Given the description of an element on the screen output the (x, y) to click on. 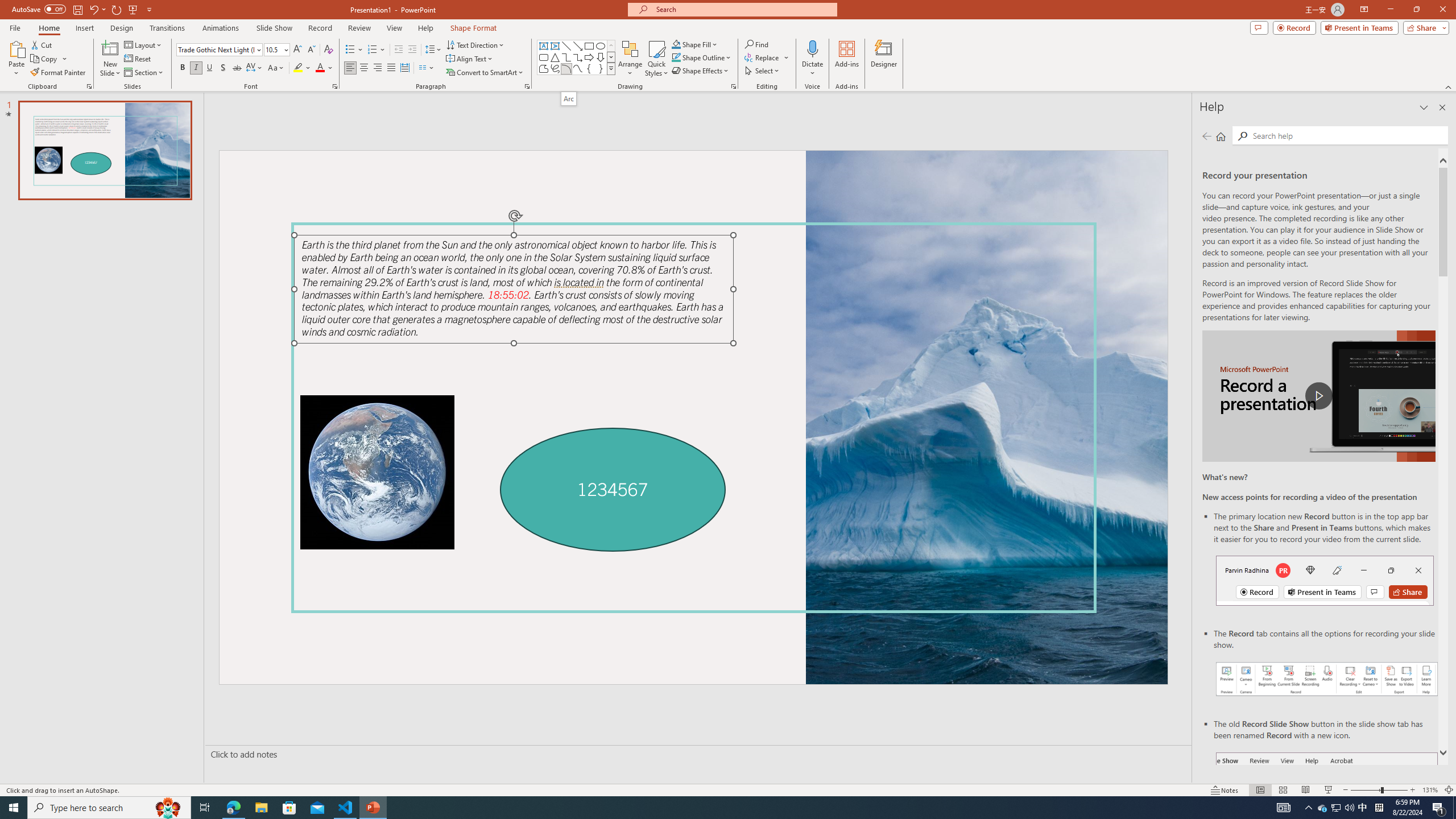
Shape Outline Teal, Accent 1 (675, 56)
